Given the description of an element on the screen output the (x, y) to click on. 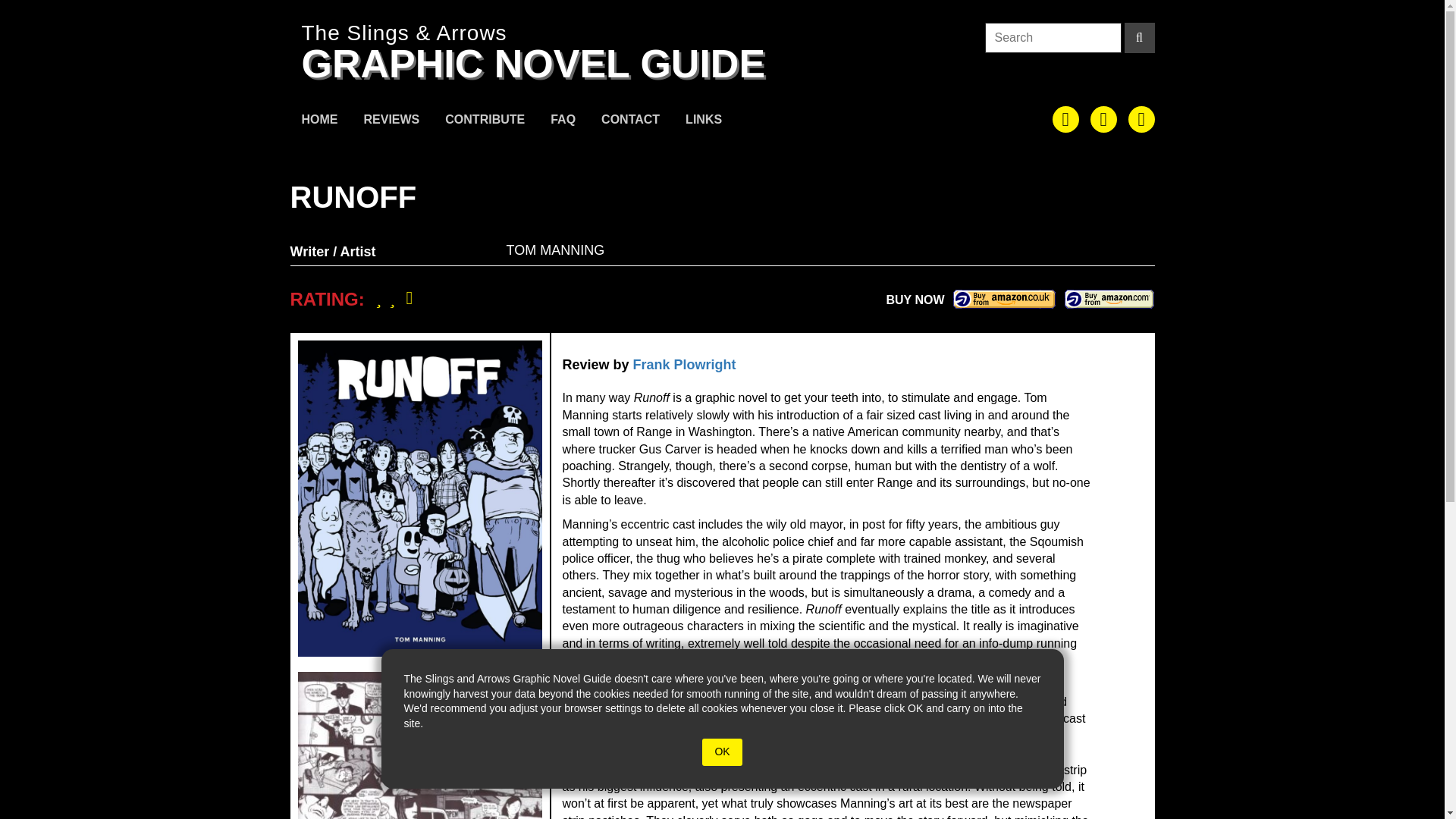
CONTRIBUTE (484, 121)
TOM MANNING (555, 249)
HOME (319, 121)
REVIEWS (391, 121)
SAMPLE IMAGE  (419, 745)
CONTACT (630, 121)
OK (721, 751)
LINKS (703, 121)
Frank Plowright (684, 364)
FAQ (562, 121)
Posts by Frank Plowright (684, 364)
